Given the description of an element on the screen output the (x, y) to click on. 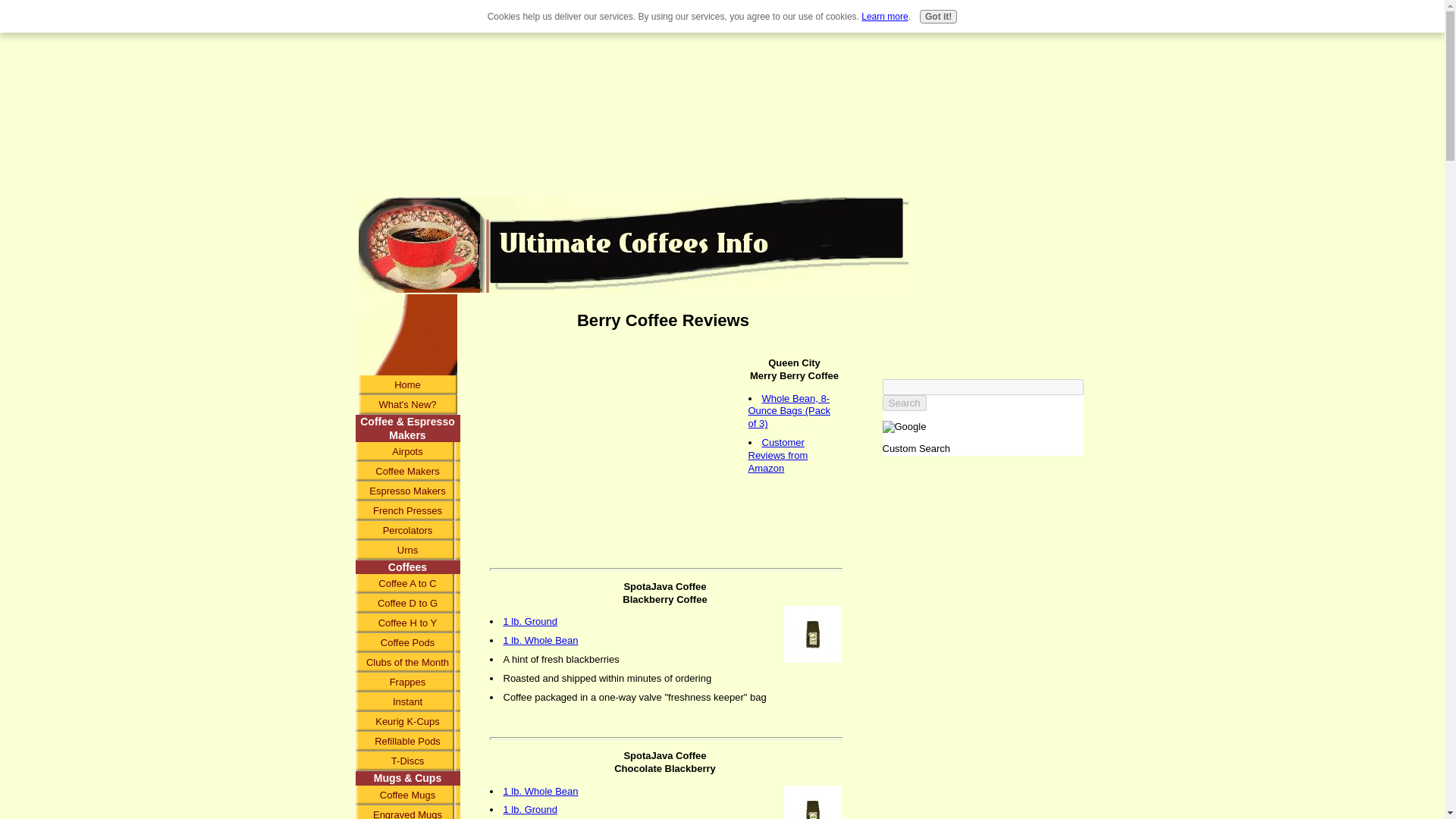
Coffee Pods (407, 642)
Coffee Mugs (407, 795)
Coffee Makers (407, 471)
French Presses (407, 510)
Percolators (407, 530)
Coffee D to G (407, 603)
Engraved Mugs (407, 812)
Coffee H to Y (407, 623)
T-Discs (407, 761)
Advertisement (406, 328)
Coffee A to C (407, 583)
Search (904, 402)
Clubs of the Month (407, 662)
Refillable Pods (407, 741)
Keurig K-Cups (407, 721)
